Given the description of an element on the screen output the (x, y) to click on. 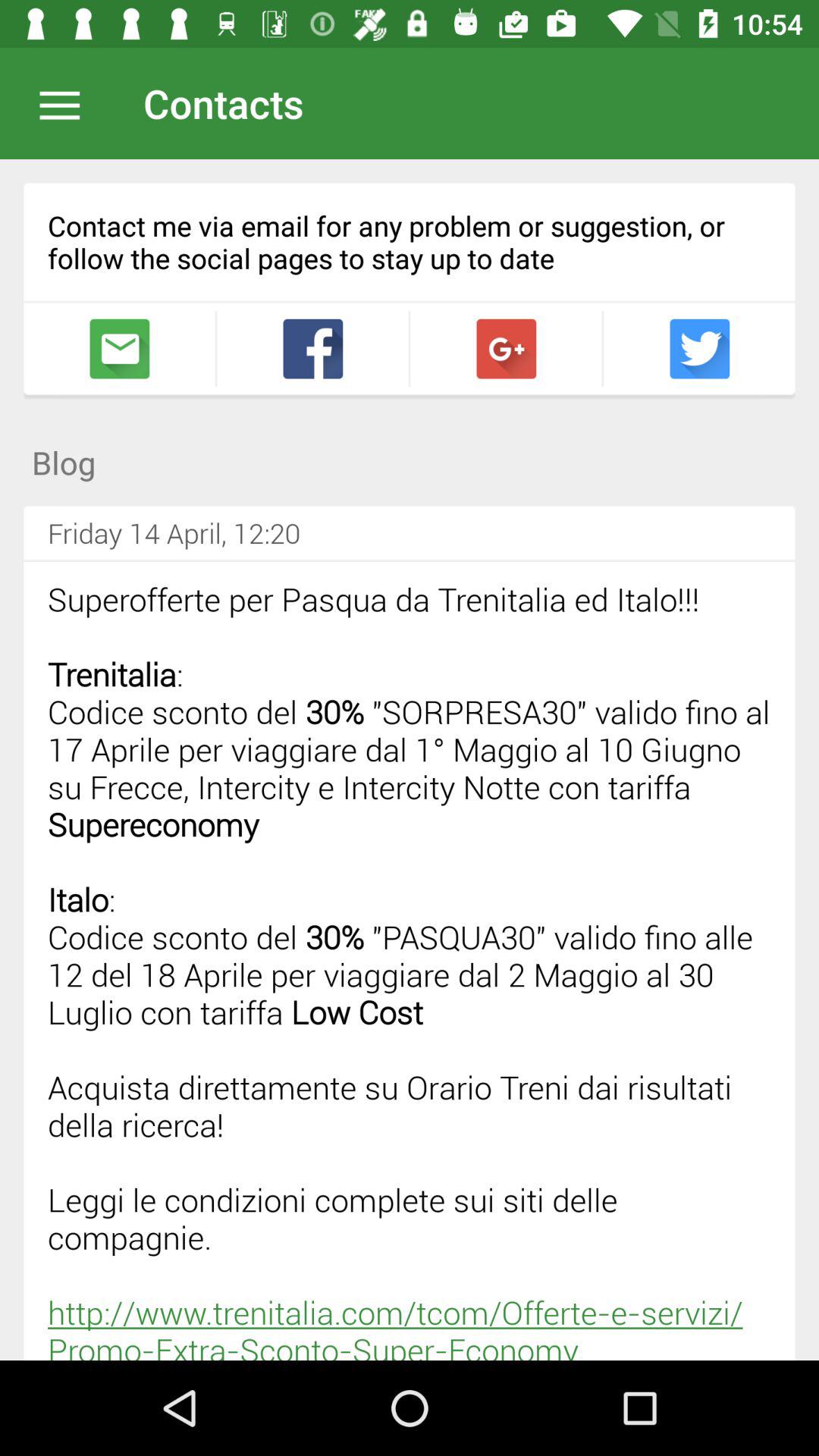
company 's twitter page (699, 348)
